Given the description of an element on the screen output the (x, y) to click on. 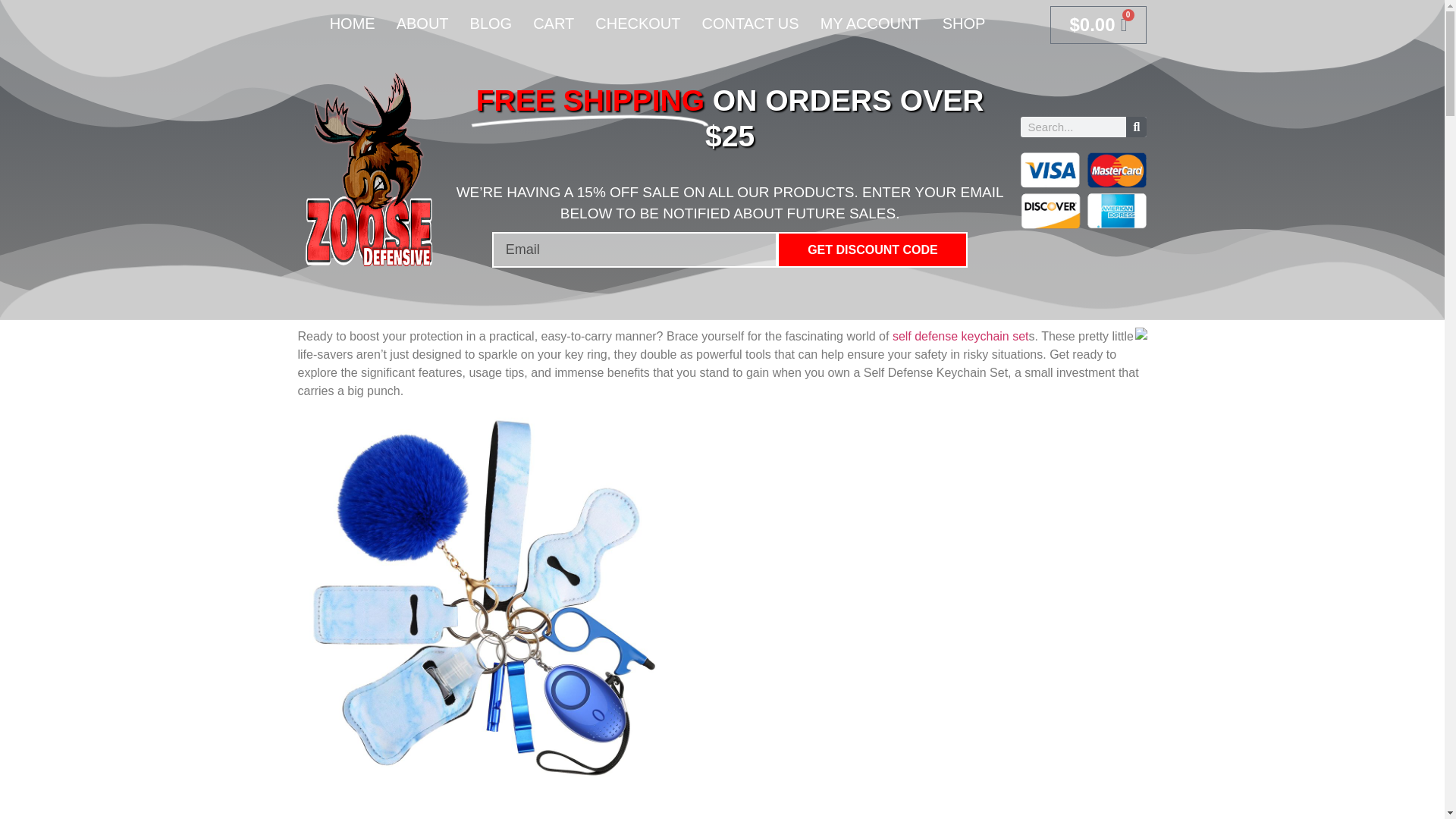
self defense keychain set (960, 336)
GET DISCOUNT CODE (872, 249)
CHECKOUT (637, 22)
BLOG (491, 22)
SHOP (963, 22)
CONTACT US (749, 22)
HOME (351, 22)
CART (553, 22)
MY ACCOUNT (870, 22)
